Given the description of an element on the screen output the (x, y) to click on. 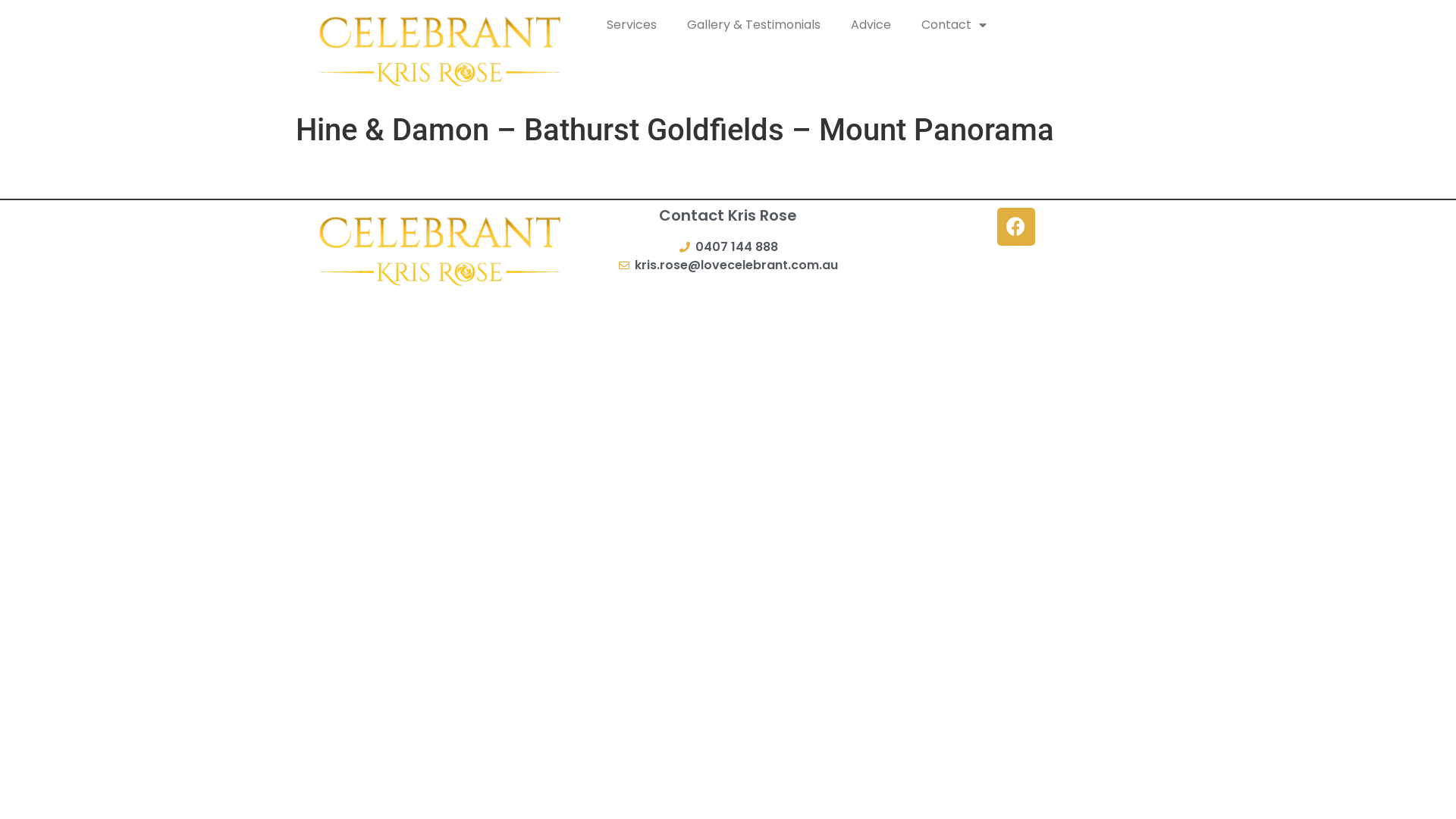
Contact Element type: text (953, 24)
0407 144 888 Element type: text (727, 247)
Gallery & Testimonials Element type: text (753, 24)
Advice Element type: text (870, 24)
Services Element type: text (631, 24)
